Given the description of an element on the screen output the (x, y) to click on. 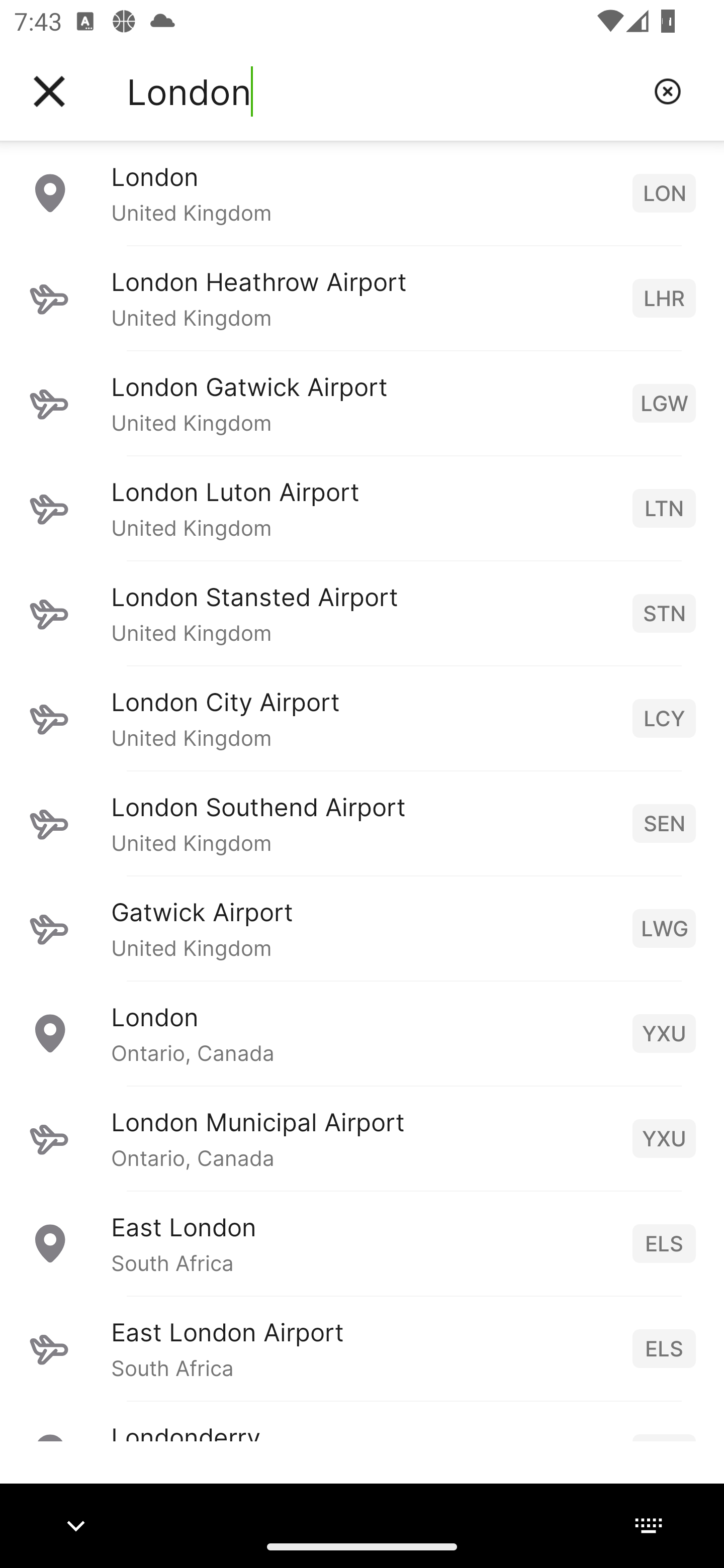
London (382, 91)
London United Kingdom LON (362, 192)
London Heathrow Airport United Kingdom LHR (362, 297)
London Gatwick Airport United Kingdom LGW (362, 402)
London Luton Airport United Kingdom LTN (362, 507)
London Stansted Airport United Kingdom STN (362, 612)
London City Airport United Kingdom LCY (362, 717)
London Southend Airport United Kingdom SEN (362, 822)
Gatwick Airport United Kingdom LWG (362, 928)
London Ontario, Canada YXU (362, 1033)
London Municipal Airport Ontario, Canada YXU (362, 1138)
East London South Africa ELS (362, 1243)
East London Airport South Africa ELS (362, 1348)
